Given the description of an element on the screen output the (x, y) to click on. 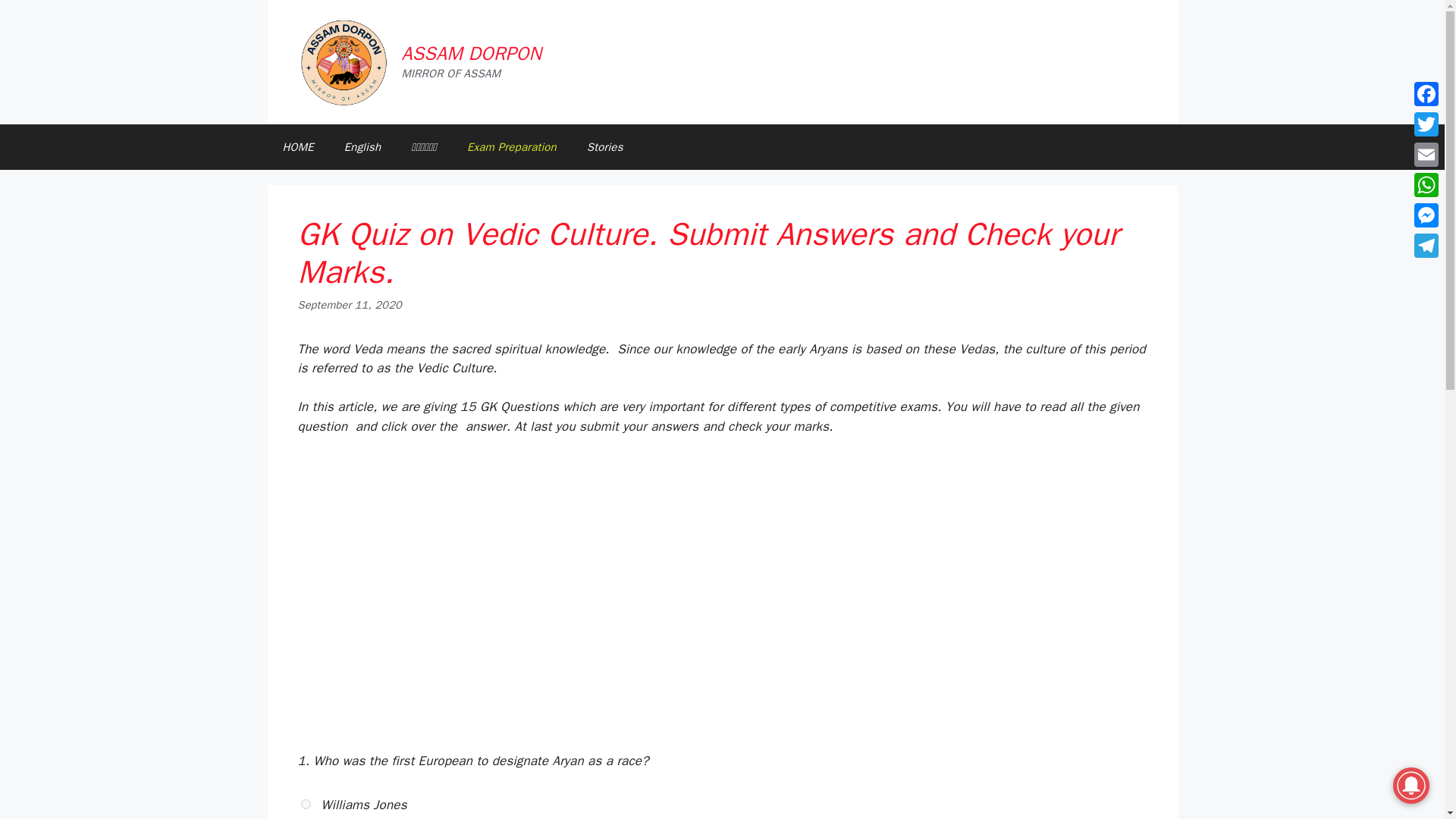
Twitter (1425, 123)
Telegram (1425, 245)
279 (306, 804)
Exam Preparation (511, 146)
English (362, 146)
ASSAM DORPON (471, 53)
Messenger (1425, 214)
Email (1425, 154)
HOME (297, 146)
Stories (605, 146)
Facebook (1425, 93)
WhatsApp (1425, 184)
